Given the description of an element on the screen output the (x, y) to click on. 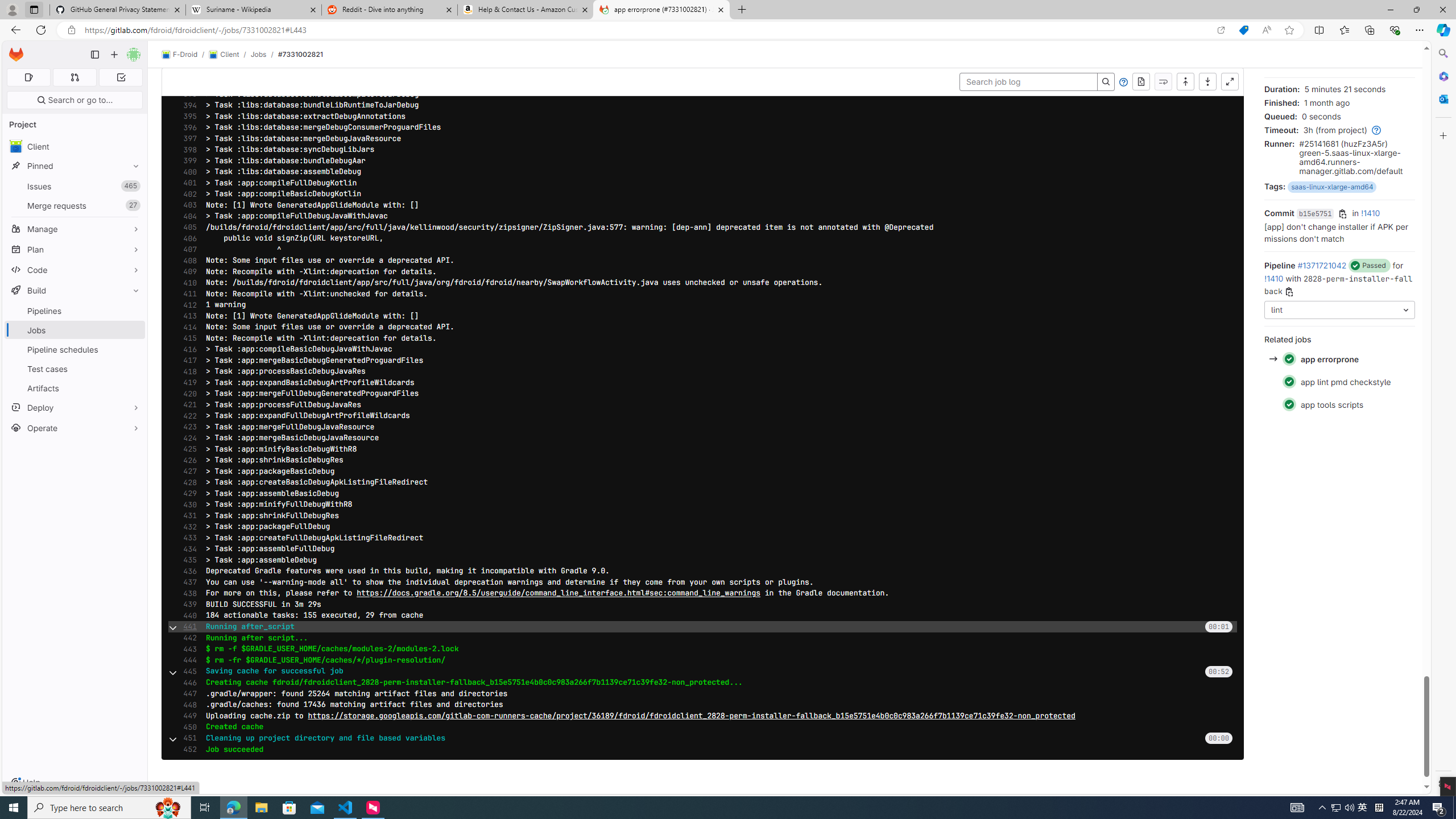
Issues465 (74, 185)
Create new... (113, 54)
449 (186, 715)
Pipelines (74, 310)
#7331002821 (300, 53)
412 (186, 304)
Status: Passed app lint pmd checkstyle (1338, 381)
Operate (74, 427)
Status: Passed (1288, 404)
452 (186, 749)
avatar (15, 146)
Issues 465 (74, 185)
